Given the description of an element on the screen output the (x, y) to click on. 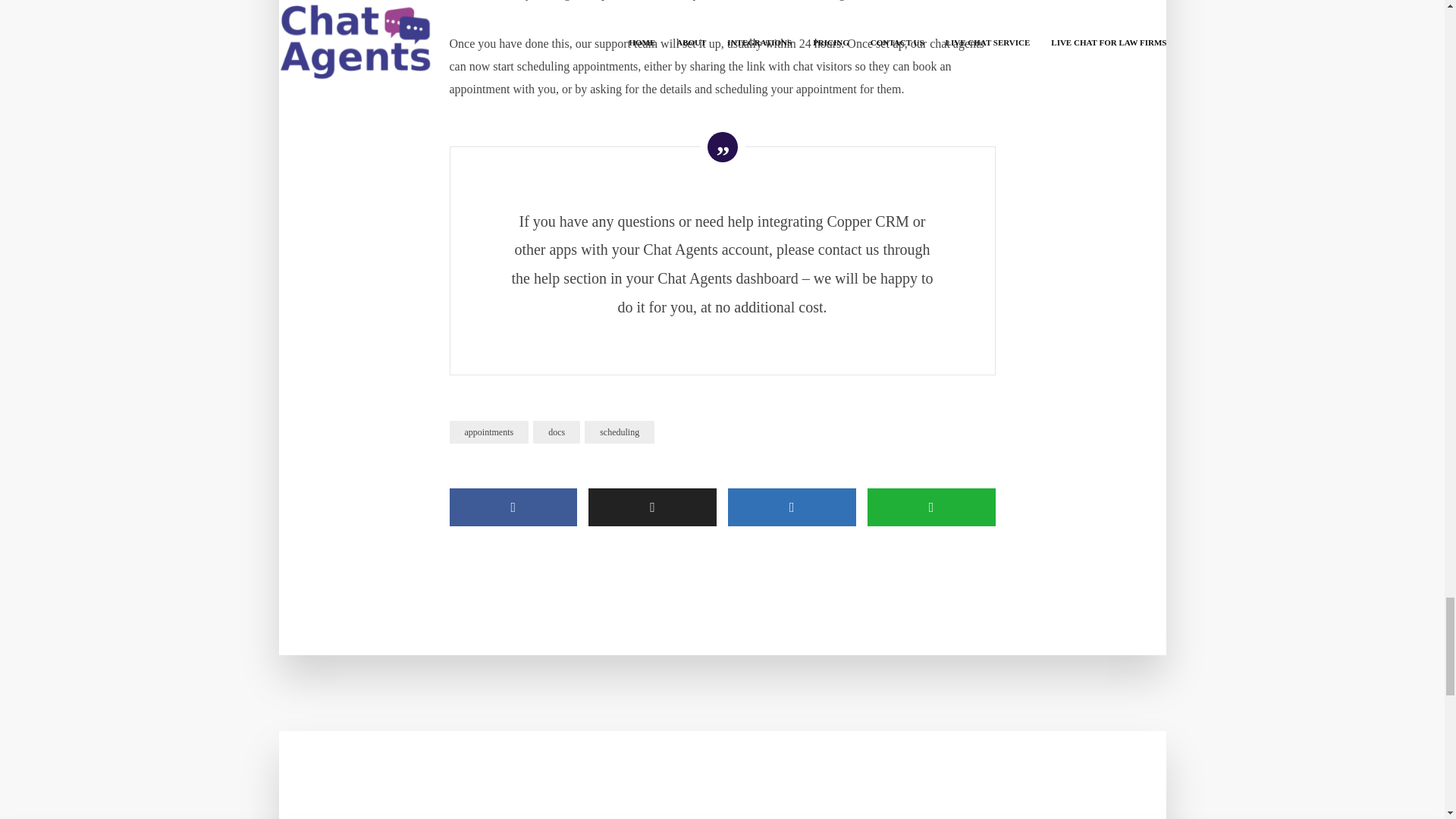
scheduling (619, 431)
appointments (488, 431)
docs (555, 431)
